Given the description of an element on the screen output the (x, y) to click on. 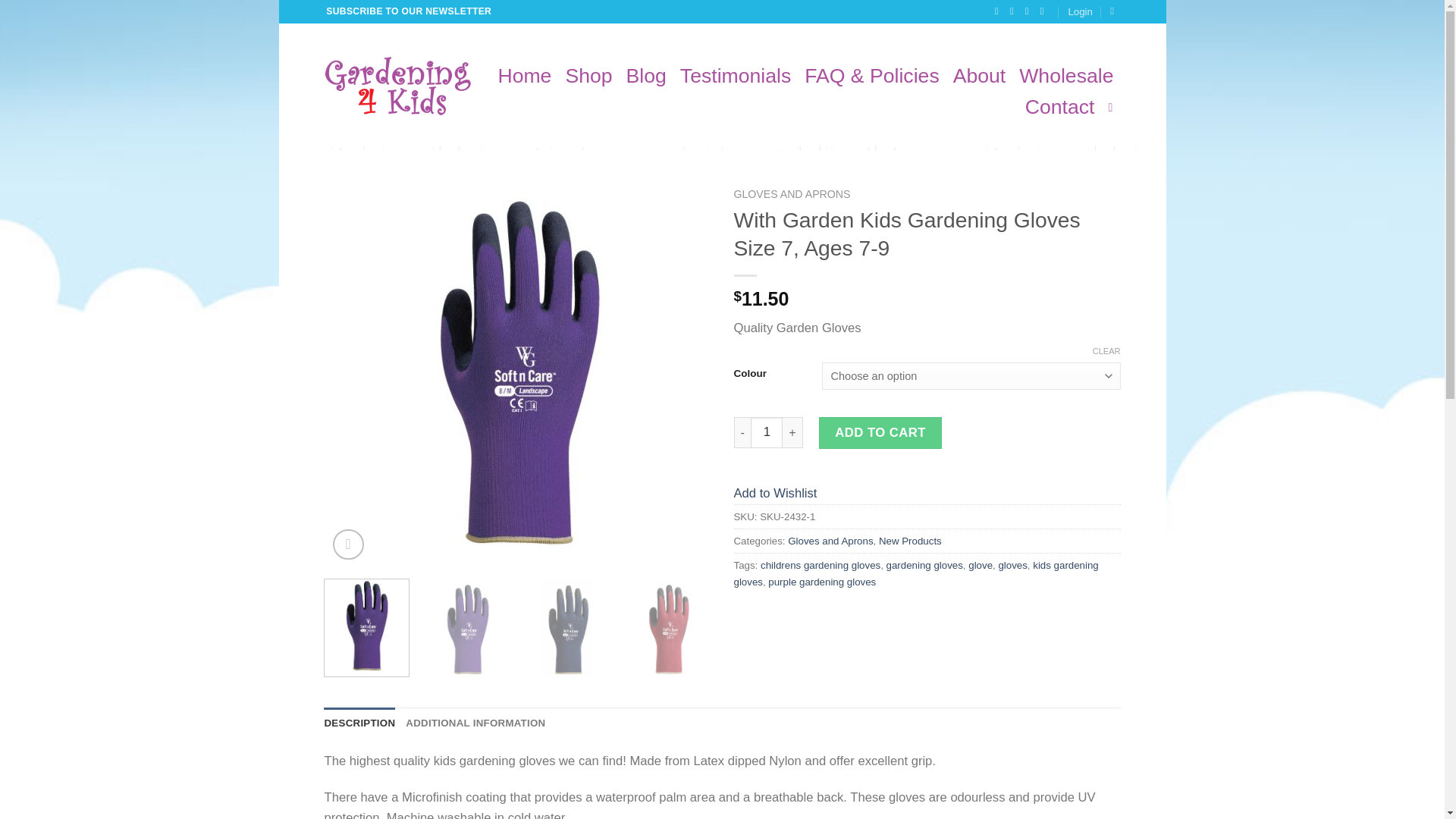
GLOVES AND APRONS (791, 193)
Blog (646, 75)
Testimonials (734, 75)
Home (524, 75)
1 (767, 432)
SUBSCRIBE TO OUR NEWSLETTER (409, 11)
Gardening 4 Kids - Fun in the Garden (398, 86)
Shop (587, 75)
Zoom (347, 544)
